Given the description of an element on the screen output the (x, y) to click on. 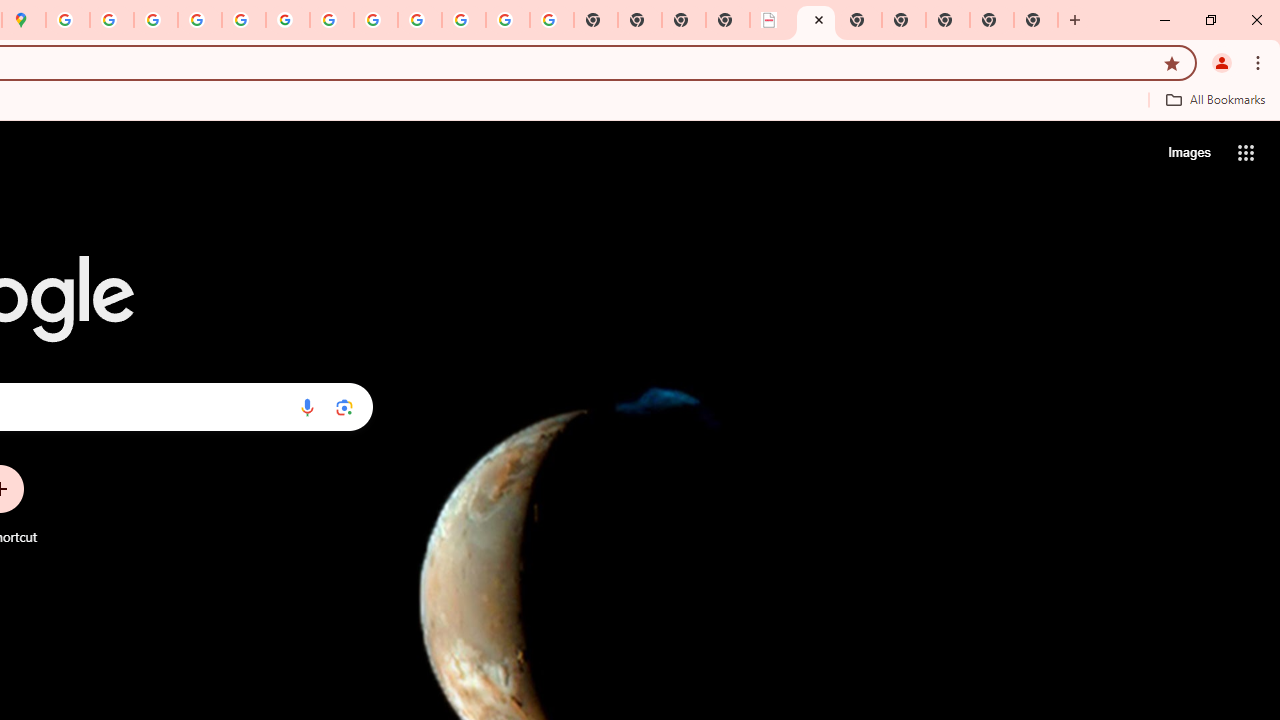
YouTube (331, 20)
LAAD Defence & Security 2025 | BAE Systems (771, 20)
New Tab (947, 20)
